Given the description of an element on the screen output the (x, y) to click on. 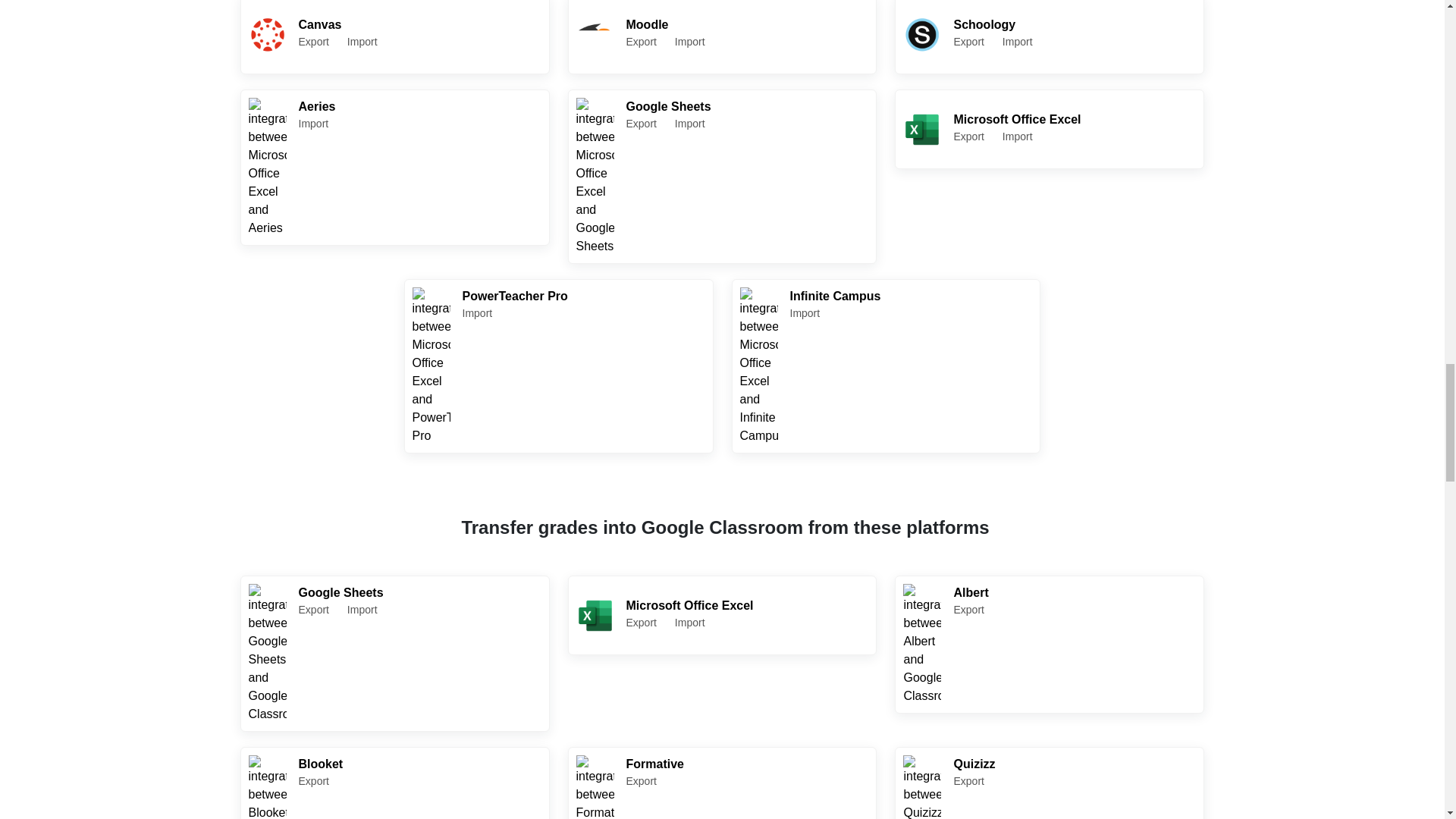
integration between Microsoft Office Excel and Moodle (1049, 782)
integration between Microsoft Office Excel and Schoology (395, 782)
